Given the description of an element on the screen output the (x, y) to click on. 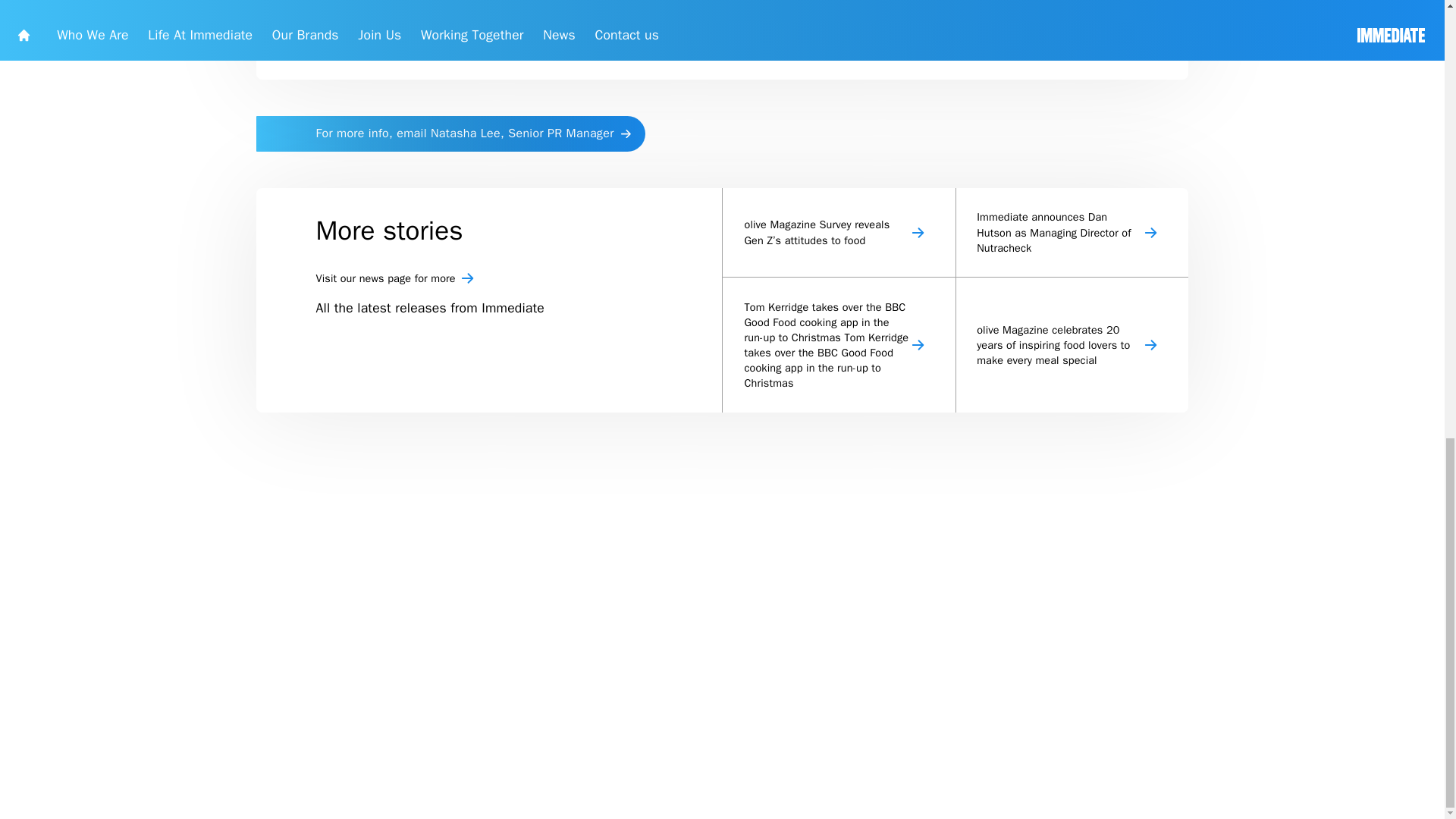
For more info, email Natasha Lee, Senior PR Manager (563, 403)
Christine Hayes (1170, 154)
Visit our news page for more (625, 583)
